Given the description of an element on the screen output the (x, y) to click on. 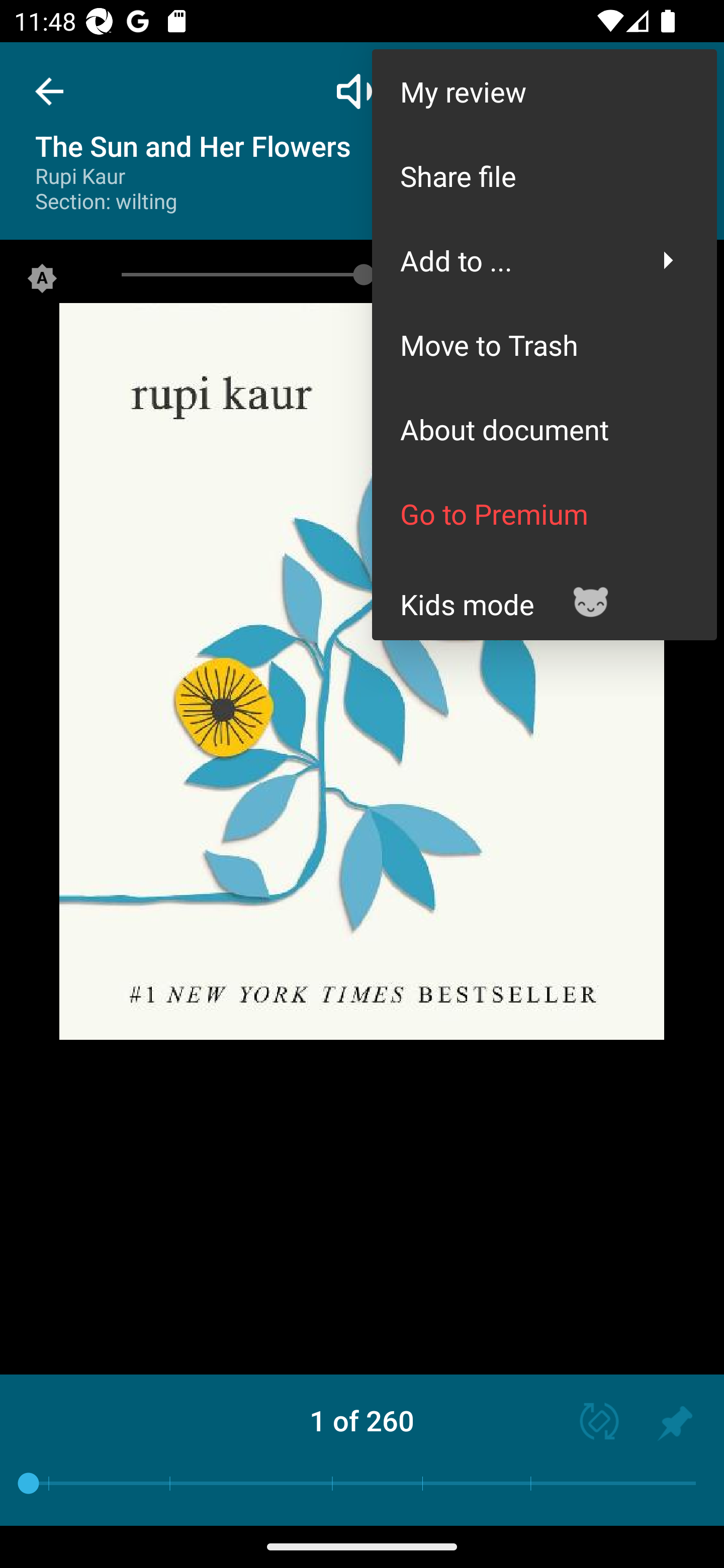
My review (544, 90)
Share file (544, 175)
Add to ... (544, 259)
Move to Trash (544, 344)
About document (544, 429)
Go to Premium (544, 513)
Kids mode     * (544, 597)
